Given the description of an element on the screen output the (x, y) to click on. 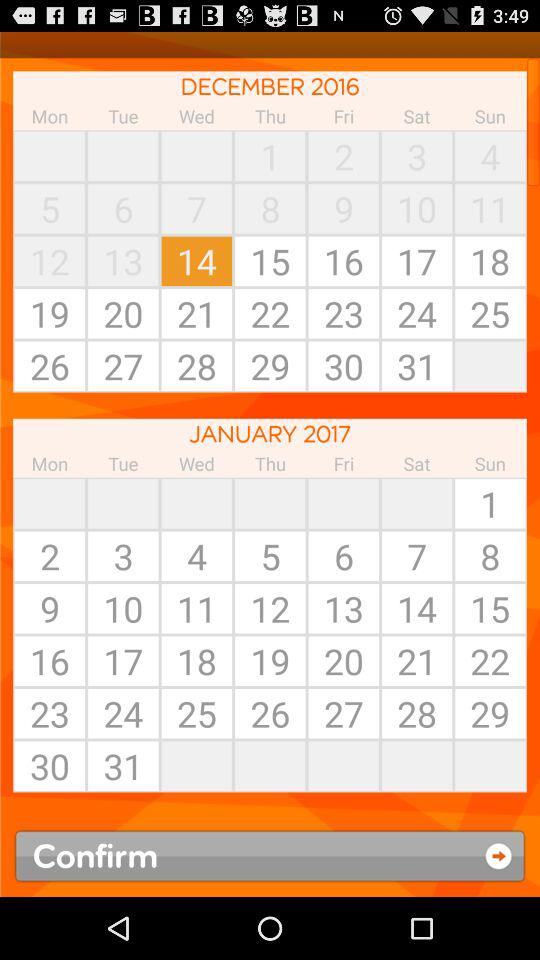
open the icon next to tue app (49, 155)
